Given the description of an element on the screen output the (x, y) to click on. 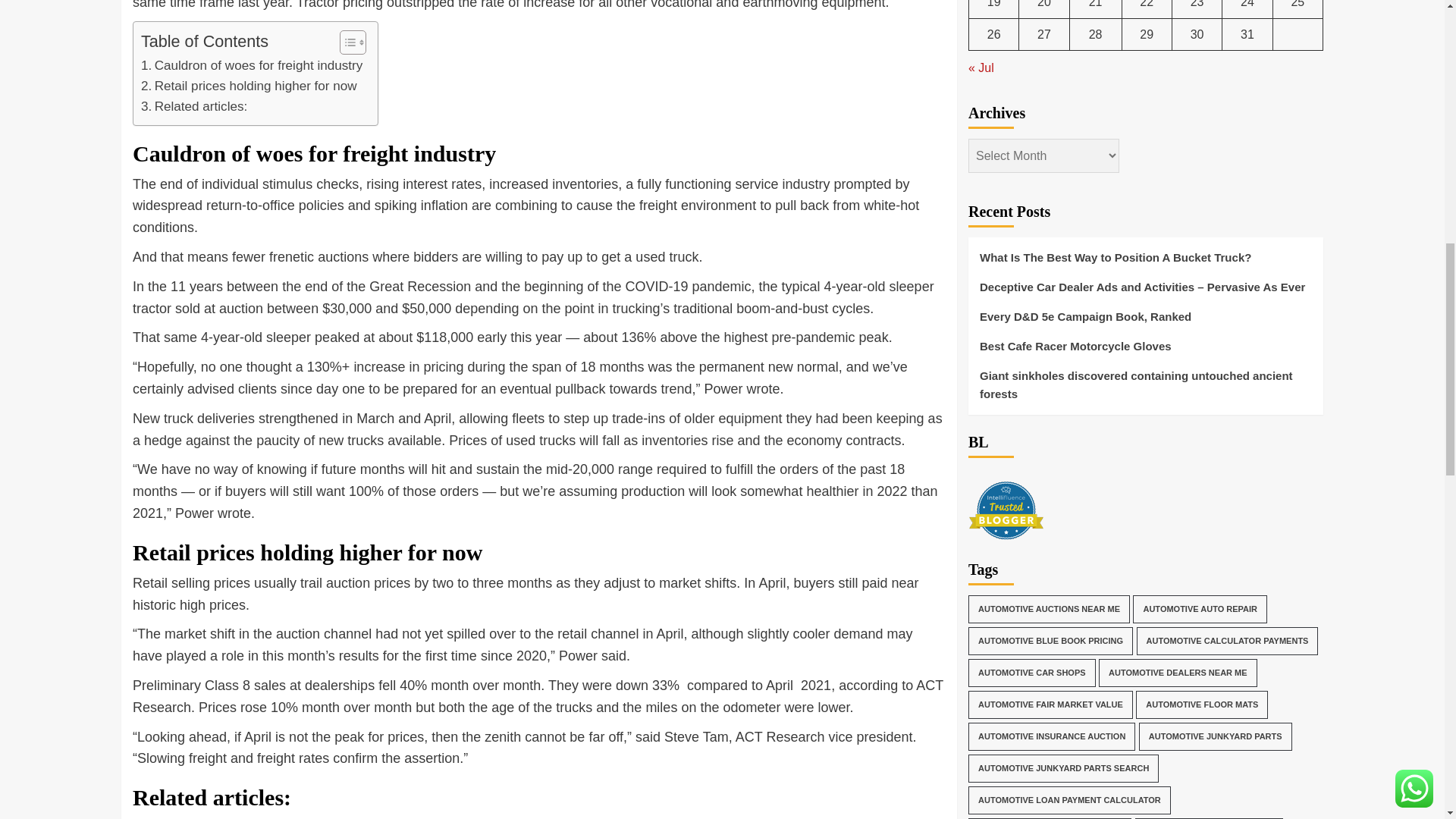
Related articles: (194, 106)
Retail prices holding higher for now (248, 86)
Retail prices holding higher for now (248, 86)
Cauldron of woes for freight industry (251, 65)
Related articles: (194, 106)
Cauldron of woes for freight industry (251, 65)
